Given the description of an element on the screen output the (x, y) to click on. 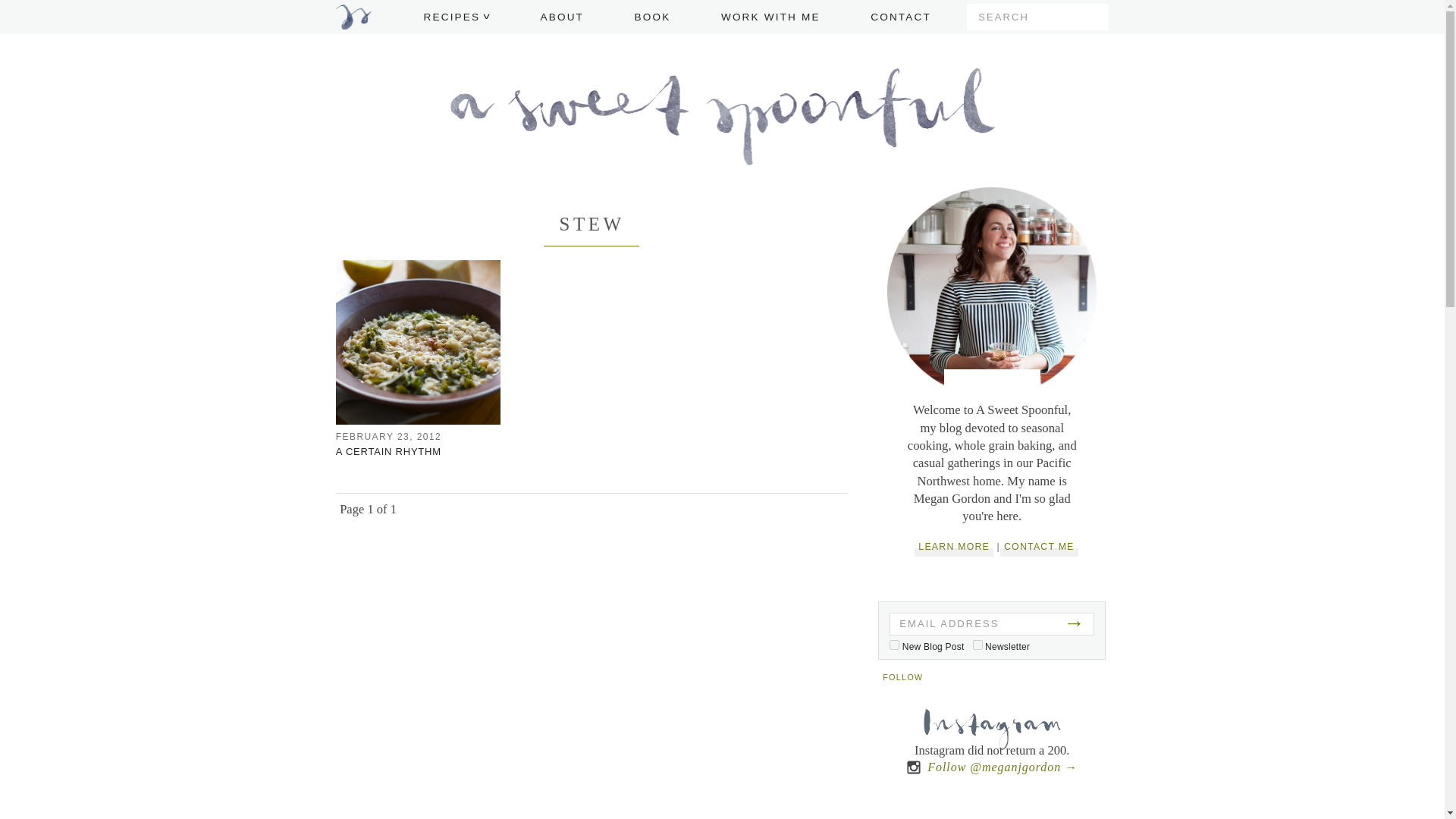
Instagram Facebook (1092, 678)
WORK WITH ME (770, 17)
Facebook Facebook (944, 678)
ABOUT (561, 17)
Search (1094, 17)
Google Plus Facebook (1063, 678)
About (992, 384)
Pinterest Facebook (974, 678)
LEARN MORE (953, 546)
Submit (1094, 17)
CONTACT ME (1039, 546)
About (992, 382)
ee850515ba (977, 644)
CONTACT (900, 17)
BOOK (652, 17)
